Given the description of an element on the screen output the (x, y) to click on. 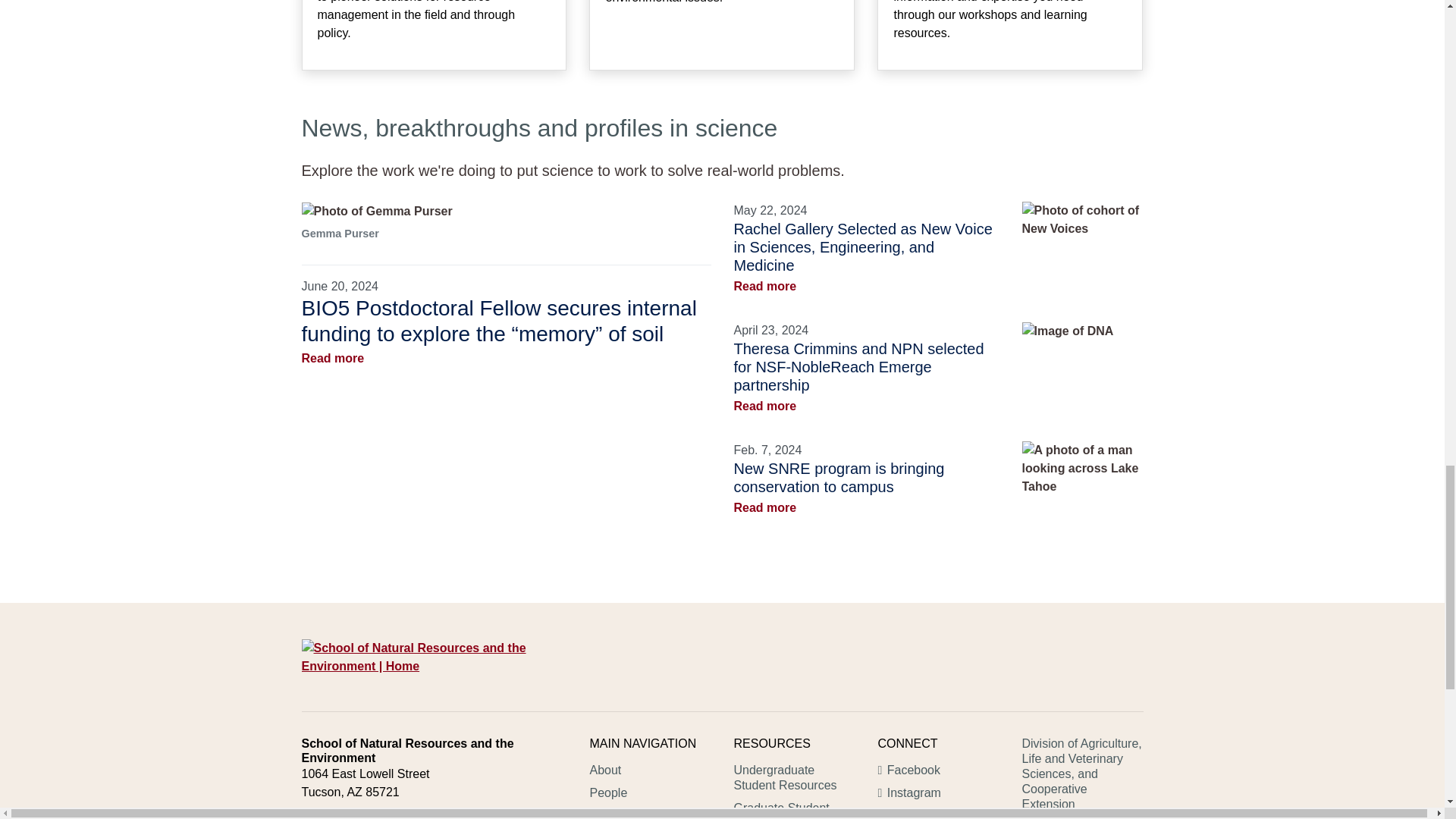
Lake Tahoe (1082, 468)
